Given the description of an element on the screen output the (x, y) to click on. 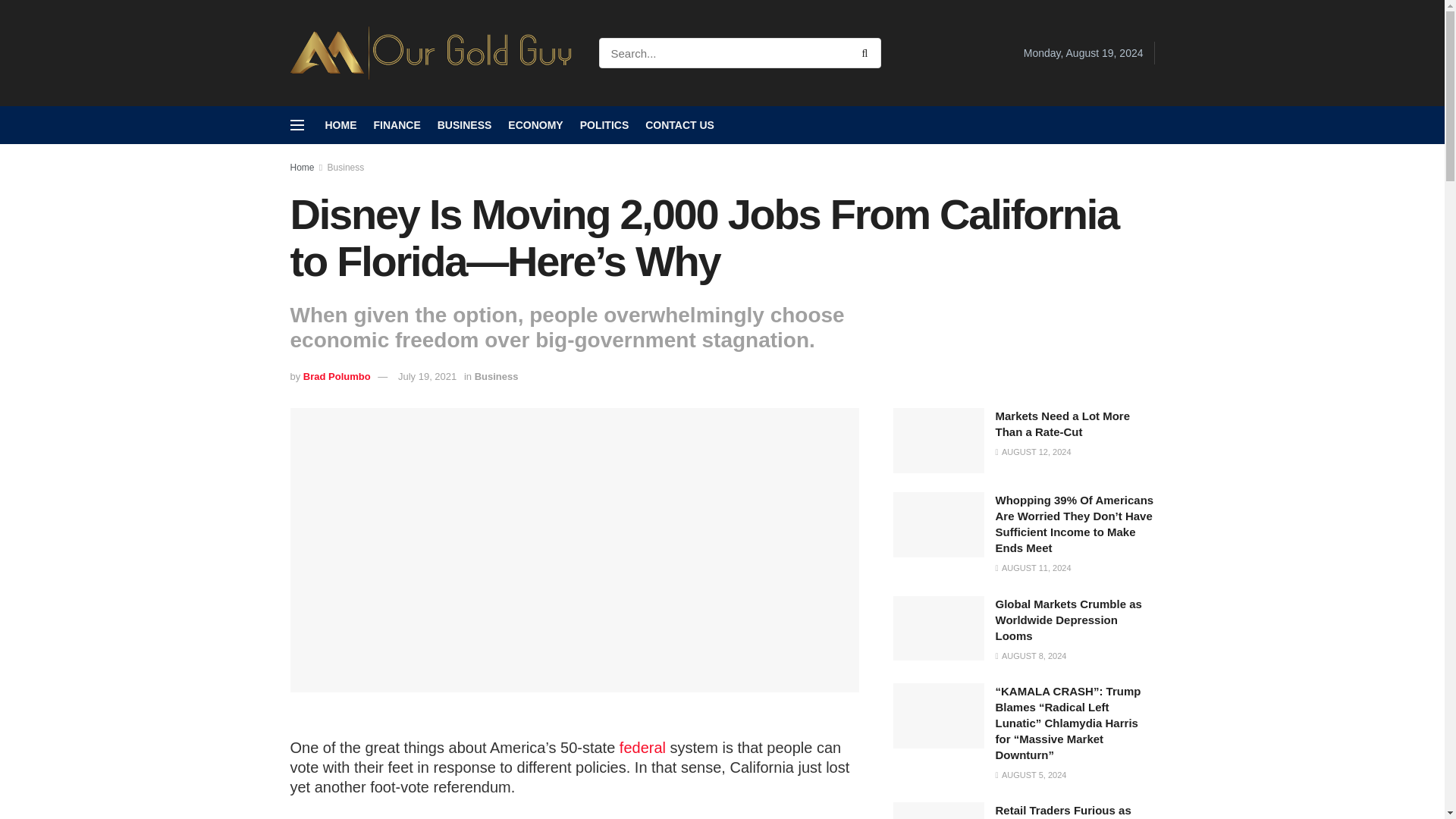
ECONOMY (535, 125)
POLITICS (603, 125)
Brad Polumbo (336, 376)
Business (496, 376)
Business (346, 167)
FINANCE (396, 125)
federal (642, 747)
July 19, 2021 (427, 376)
Home (301, 167)
BUSINESS (465, 125)
